Given the description of an element on the screen output the (x, y) to click on. 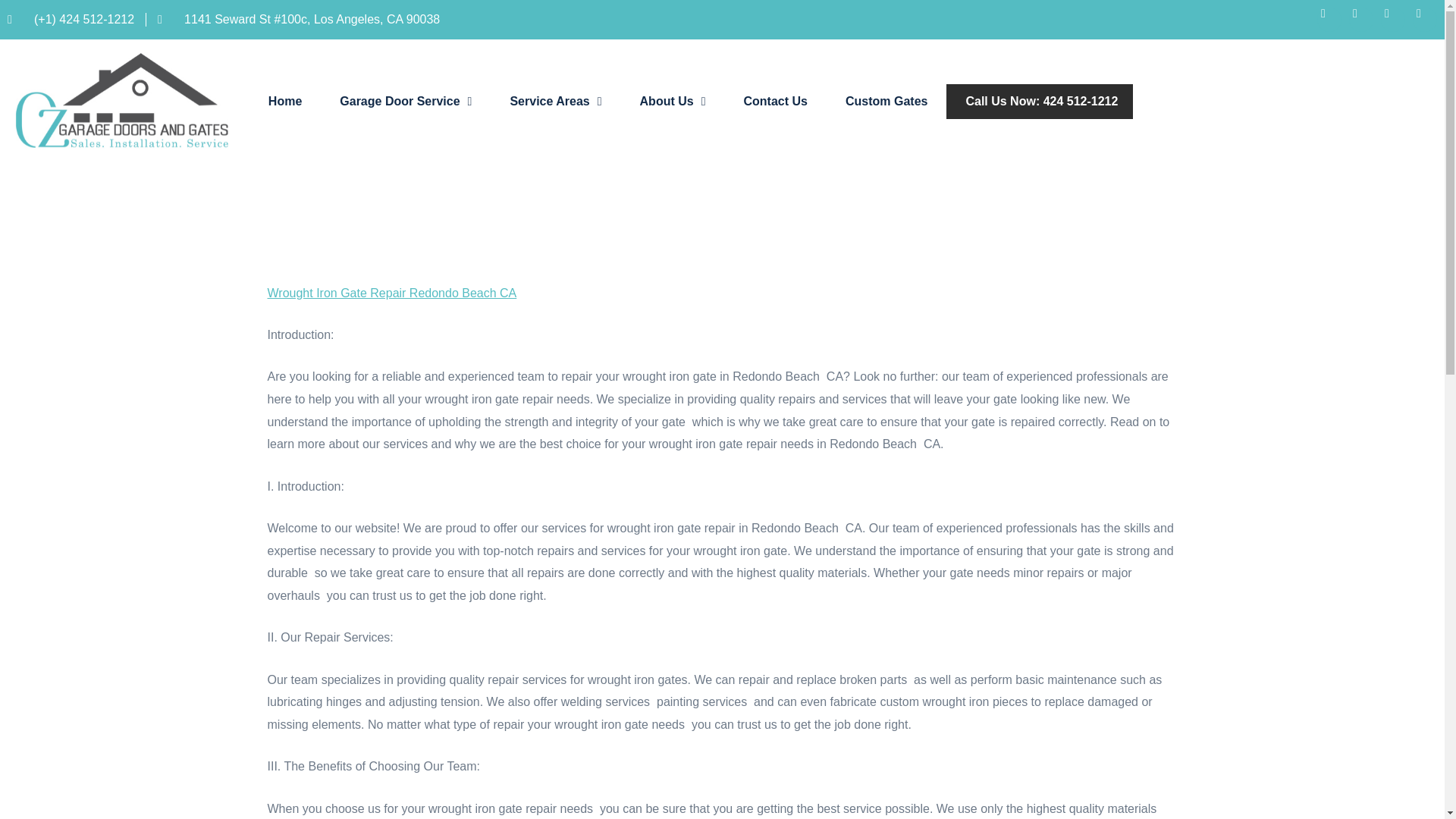
Custom Gates (885, 102)
Pinterest-p (1424, 38)
Service Areas (555, 117)
Icon-facebook (1328, 42)
Contact Us (775, 102)
Twitter (1361, 40)
Garage Door Service (405, 124)
Youtube (1392, 39)
About Us (672, 104)
Call Us Now: 424 512-1212 (1041, 101)
Home (285, 126)
